Given the description of an element on the screen output the (x, y) to click on. 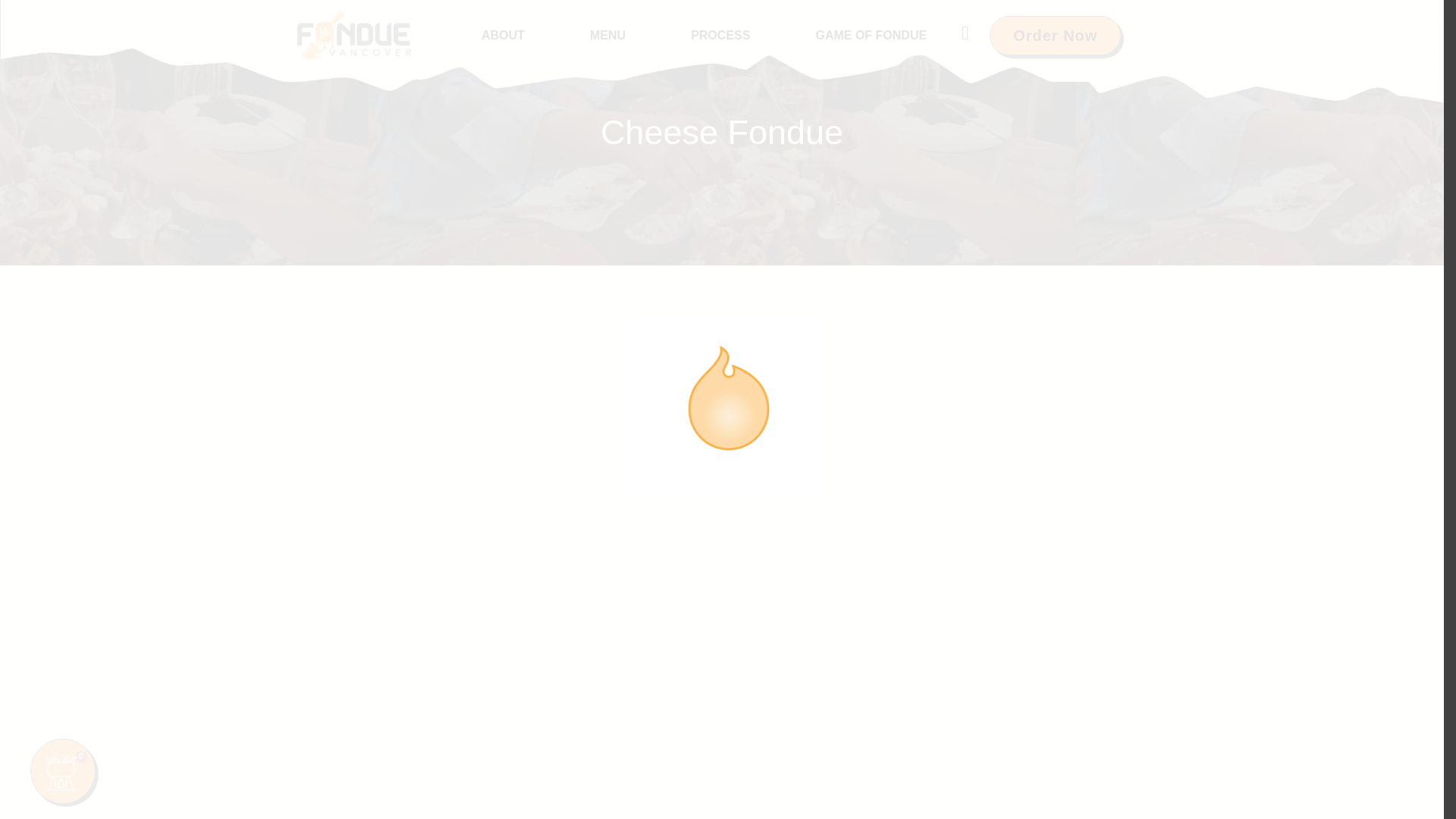
ABOUT (502, 35)
GAME OF FONDUE (871, 35)
0 (63, 770)
PROCESS (719, 35)
MENU (607, 35)
Order Now (1055, 35)
